Given the description of an element on the screen output the (x, y) to click on. 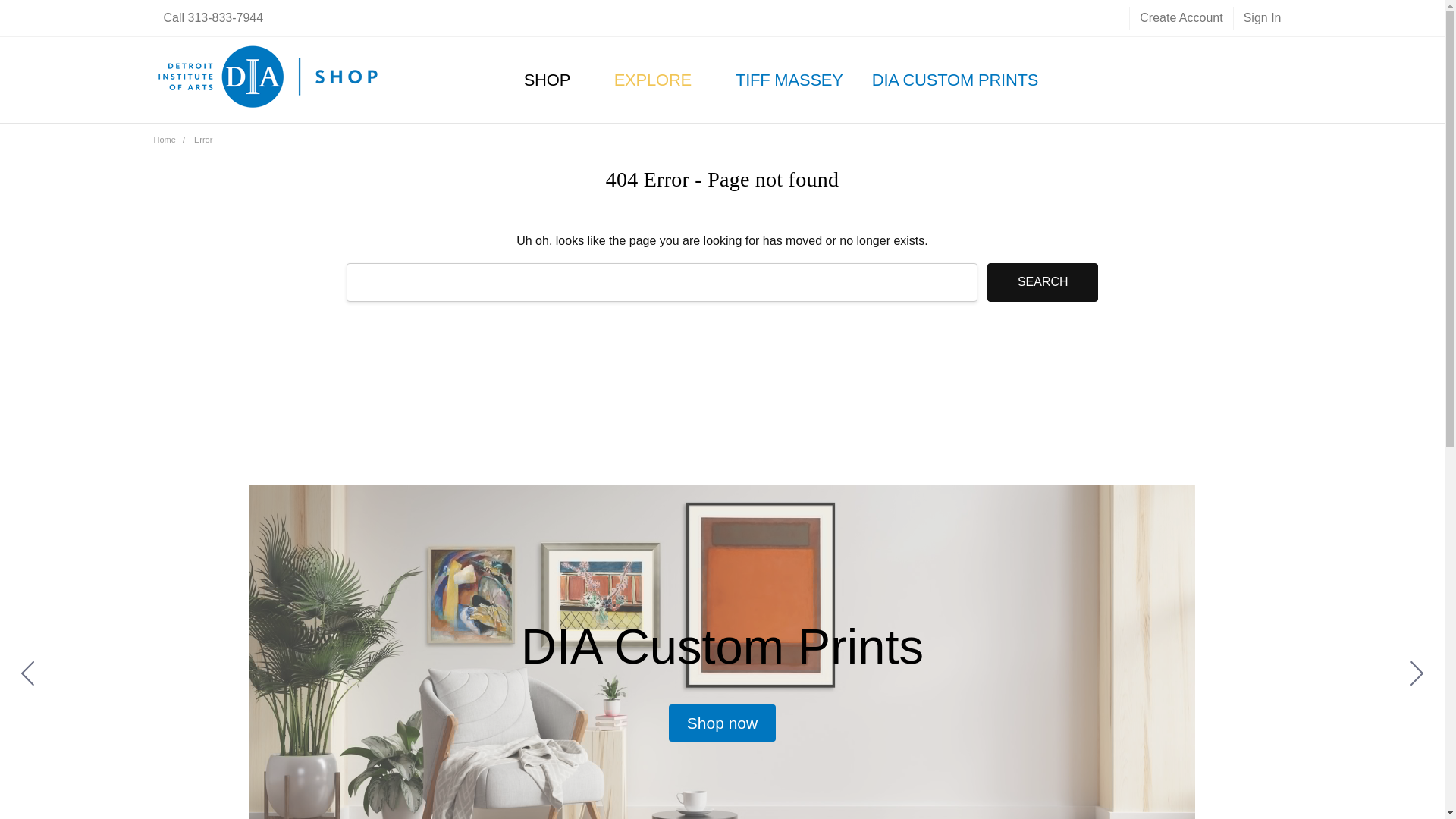
SHOP (554, 79)
Search (1042, 282)
Create Account (1180, 17)
Detroit Institute of Arts Museum Shop (268, 79)
Sign In (1262, 17)
Call 313-833-7944 (212, 17)
